Given the description of an element on the screen output the (x, y) to click on. 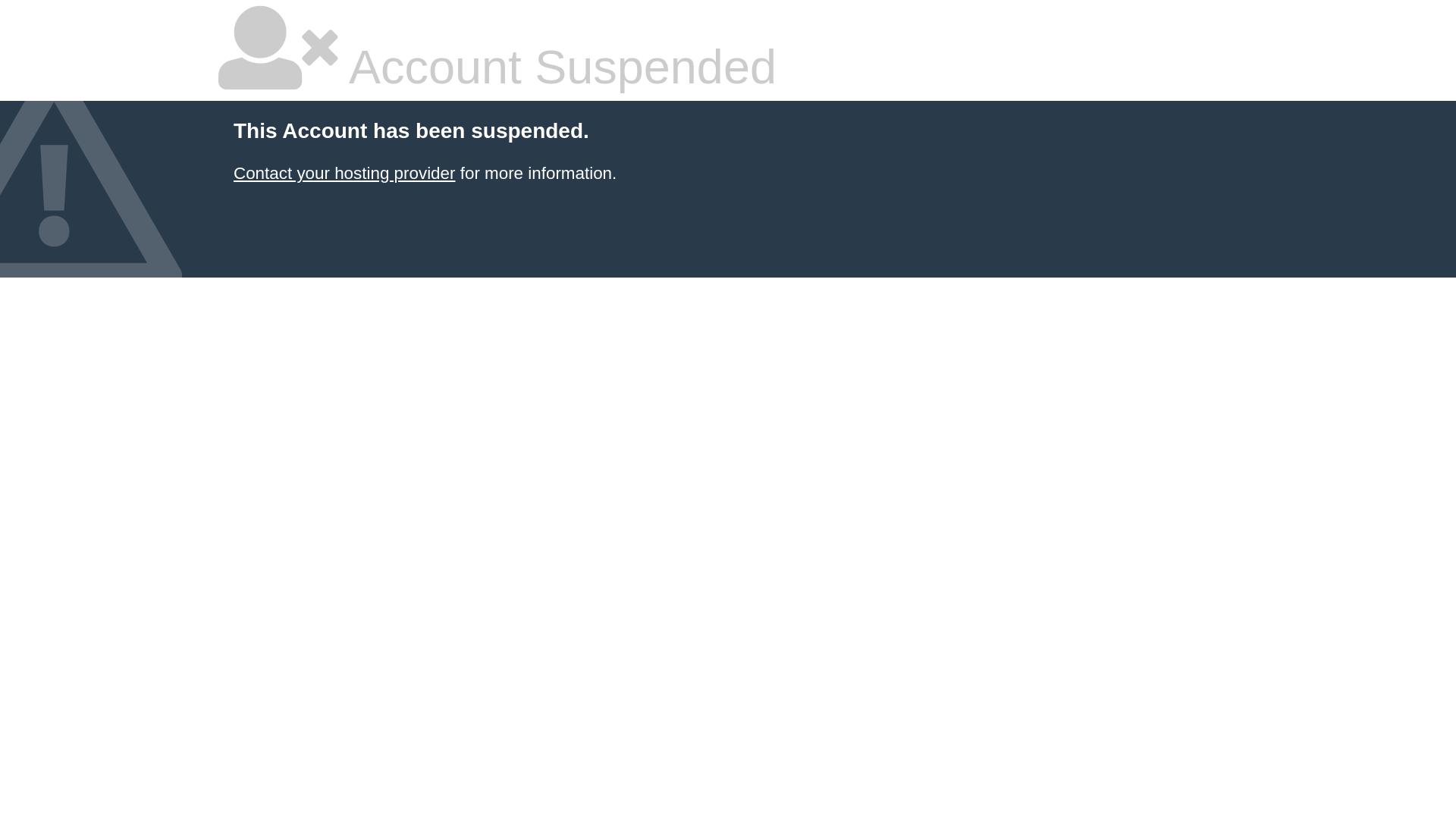
Contact your hosting provider Element type: text (344, 172)
